Given the description of an element on the screen output the (x, y) to click on. 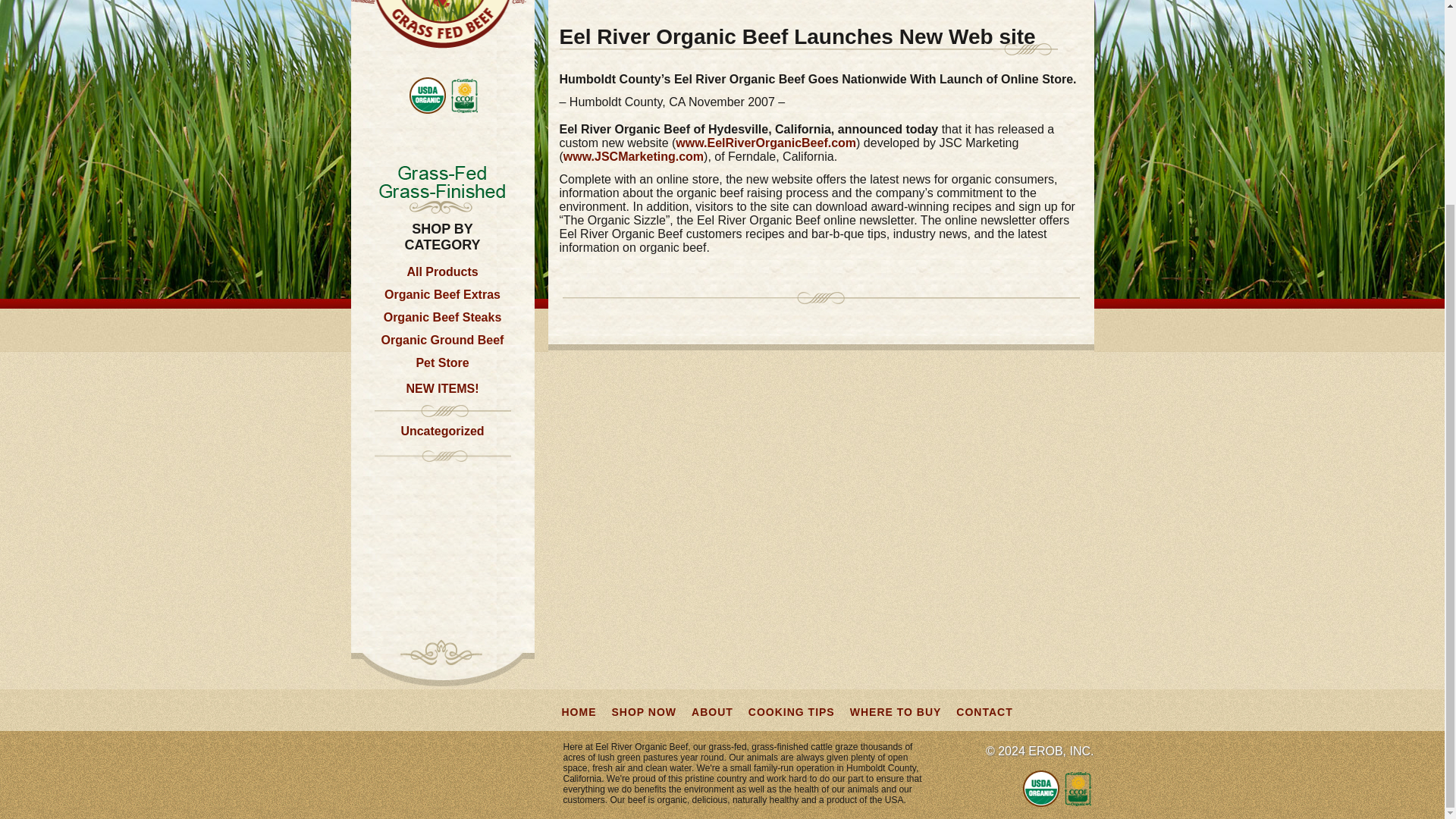
NEW ITEMS! (442, 388)
Organic Beef Extras (442, 290)
About (725, 0)
Home (578, 0)
Pet Store (441, 362)
All Products (441, 271)
Organic Ground Beef (442, 339)
Uncategorized (441, 431)
ABOUT (712, 711)
HOME (578, 711)
JSC Marketing, LLC (633, 155)
